Given the description of an element on the screen output the (x, y) to click on. 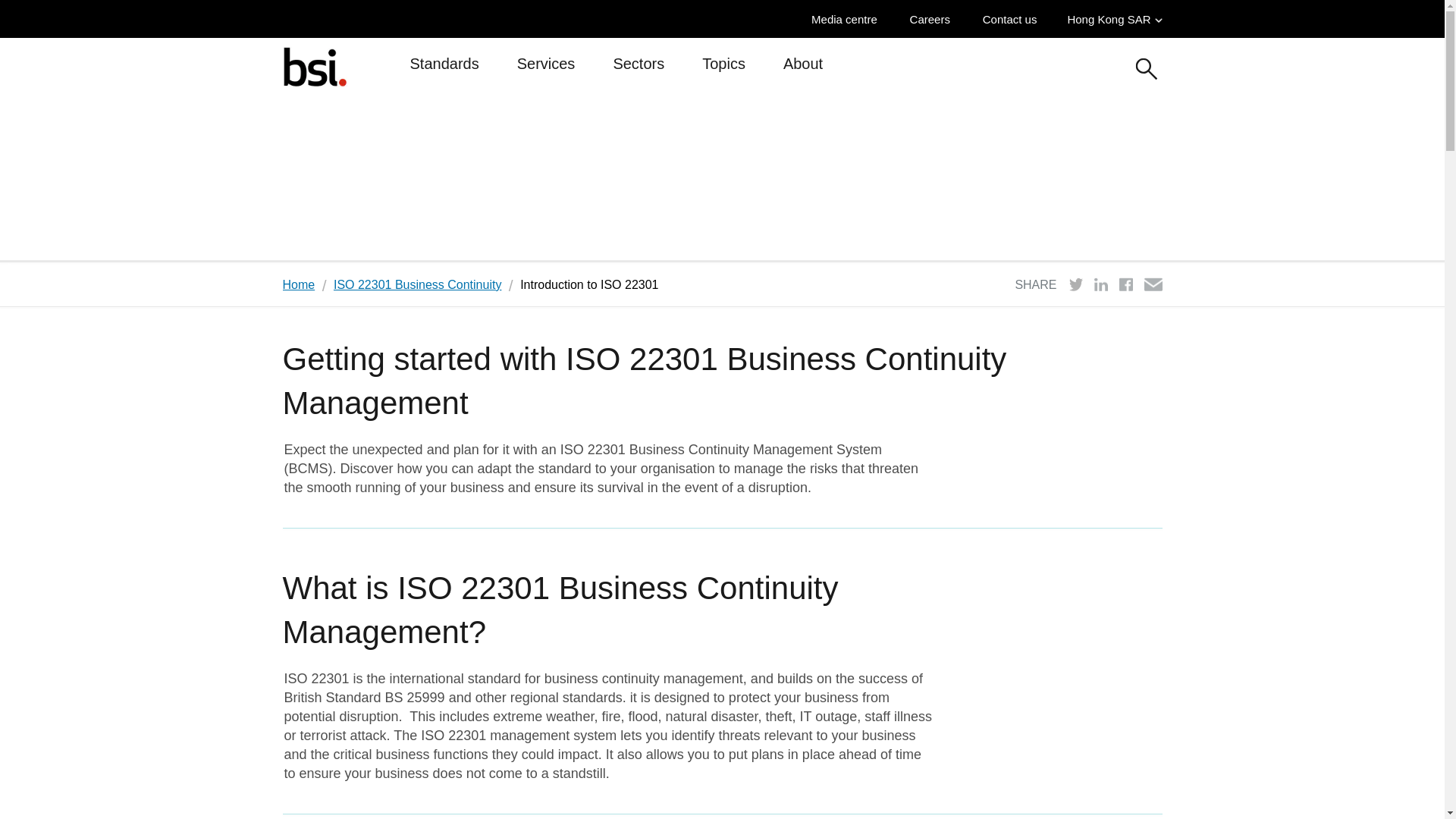
Hong Kong SAR (1114, 19)
Standards (444, 70)
Careers (934, 19)
Media centre (847, 19)
Contact us (1013, 19)
logo (314, 65)
Careers (934, 19)
Contact us (1013, 19)
Media centre (847, 19)
